Given the description of an element on the screen output the (x, y) to click on. 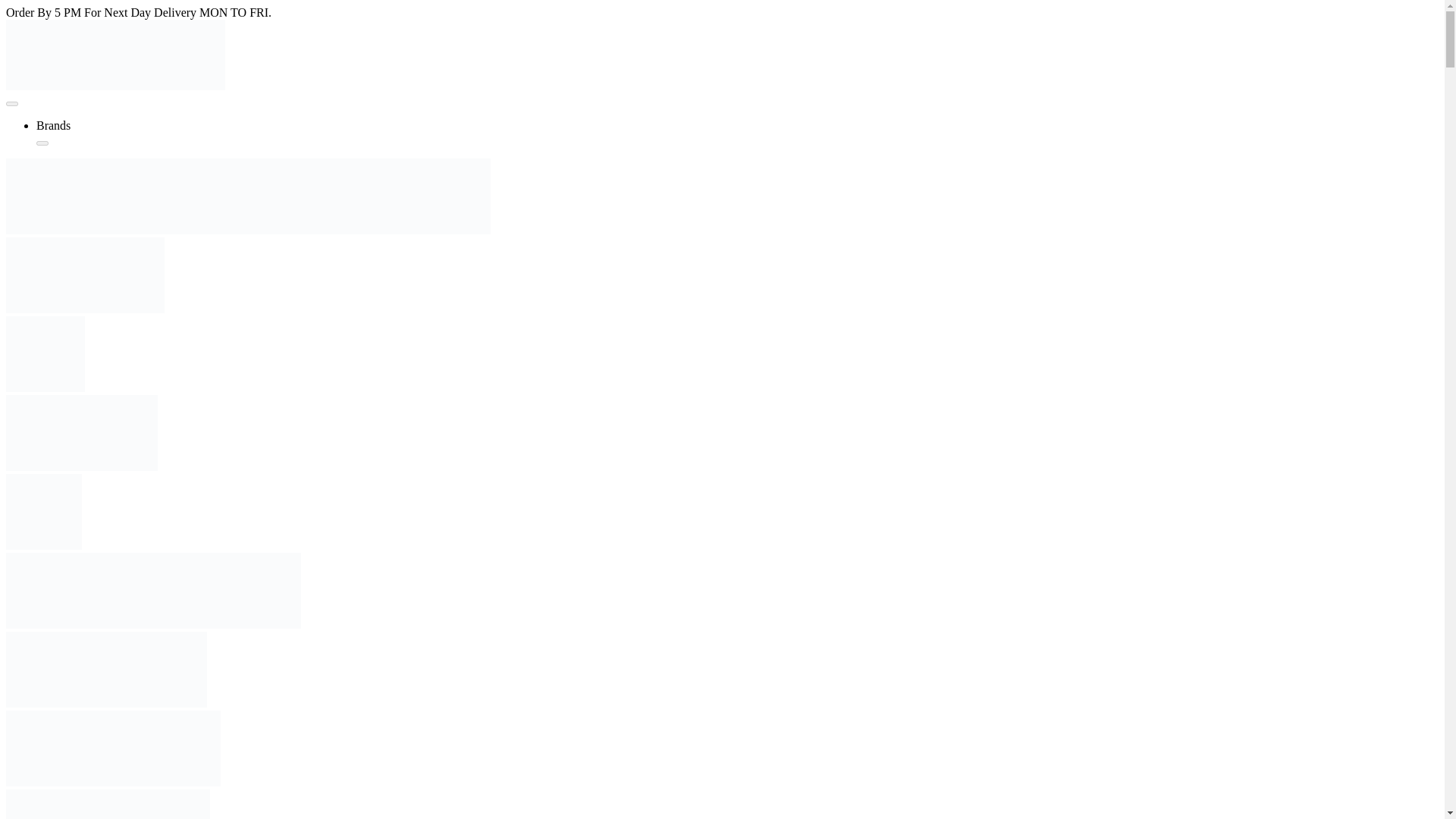
boba lish.png (44, 354)
drink me chai.png (43, 511)
20 1.png (81, 432)
zuma.png (107, 804)
ibc simply.png (84, 274)
pro whip 1.png (105, 669)
